Given the description of an element on the screen output the (x, y) to click on. 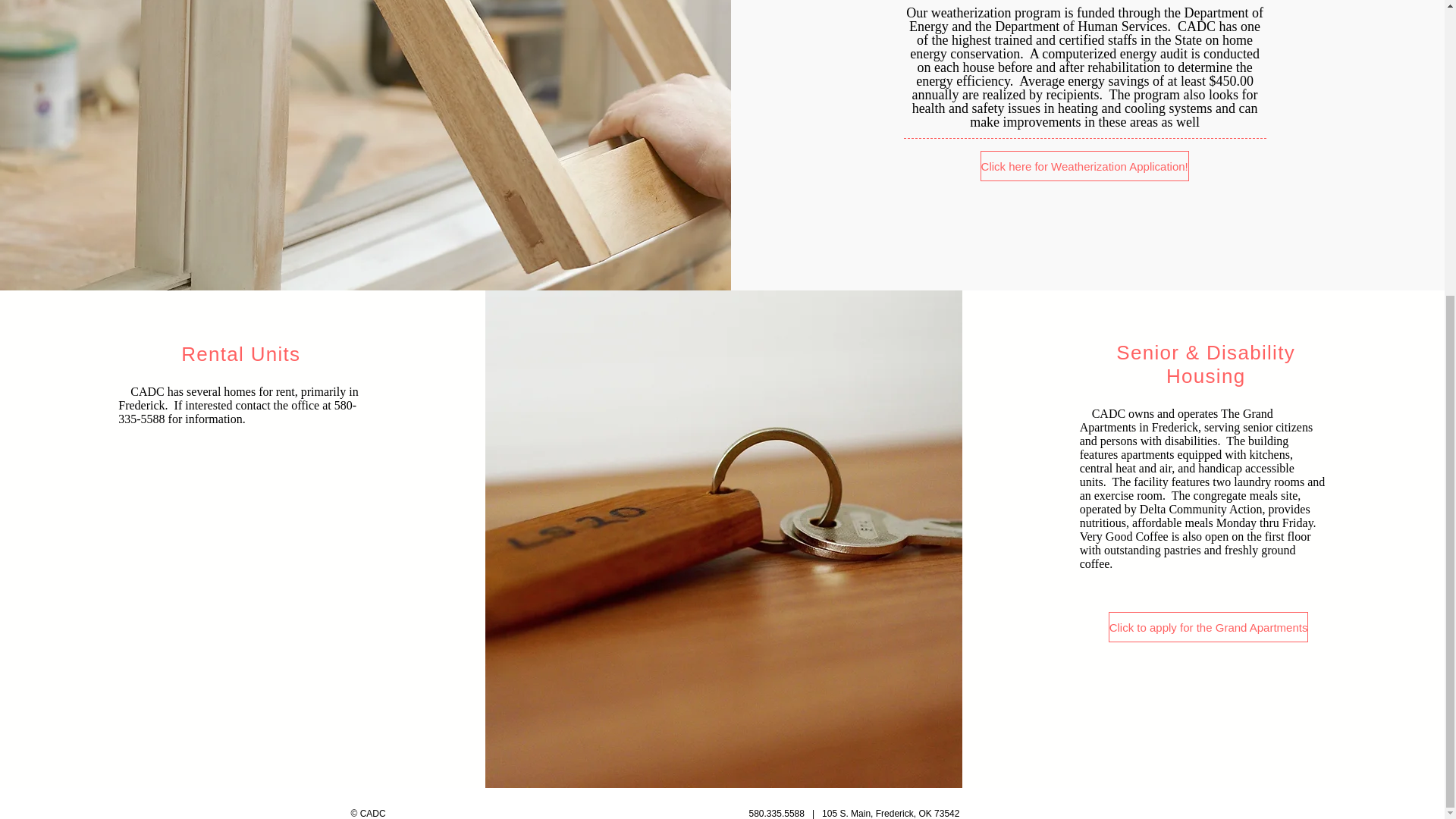
Click here for Weatherization Application! (1084, 165)
Click to apply for the Grand Apartments (1208, 626)
